Given the description of an element on the screen output the (x, y) to click on. 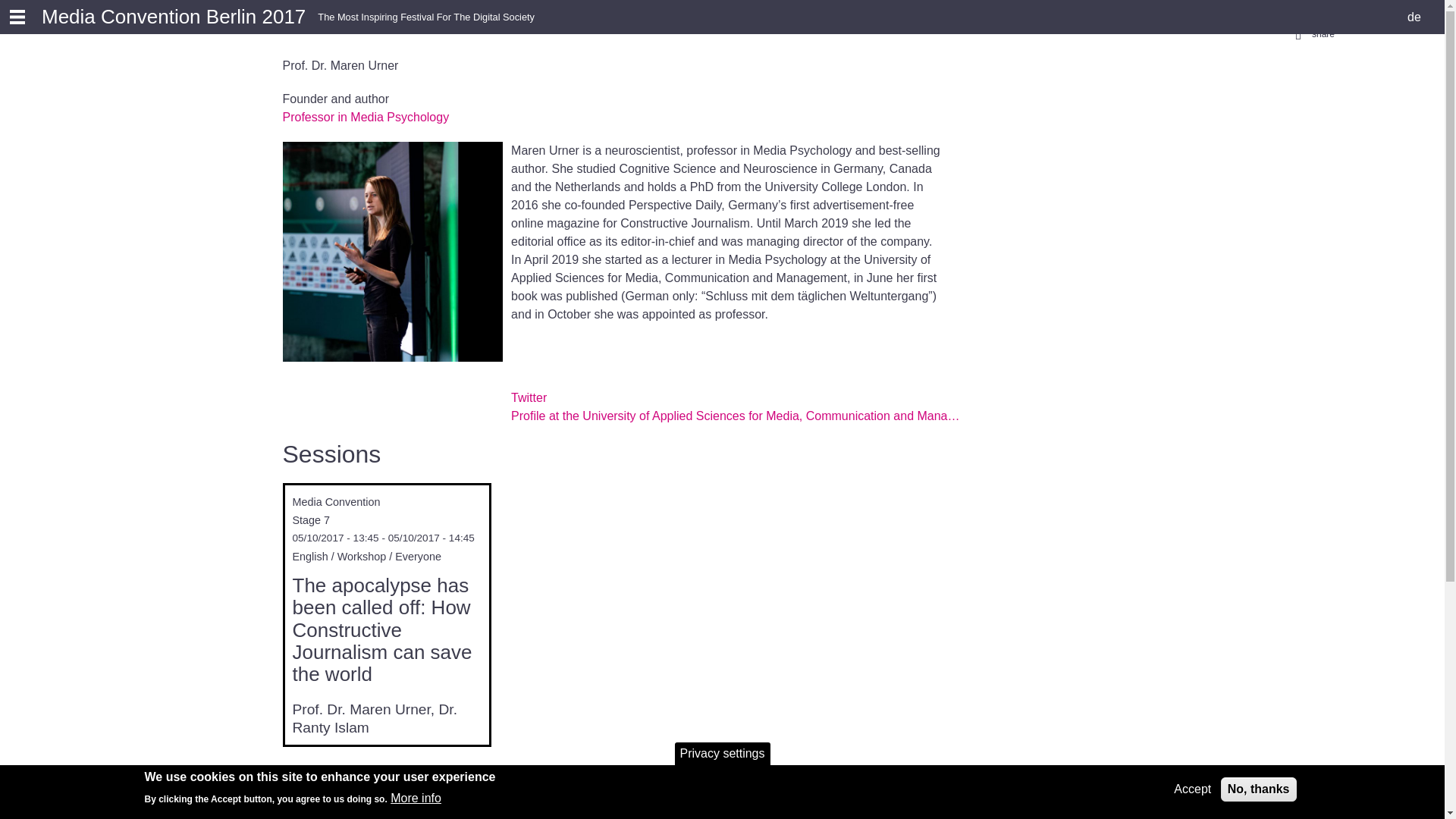
Privacy settings (721, 752)
Professor in Media Psychology (365, 116)
Home (173, 15)
Dr. Ranty Islam (375, 718)
share (1251, 11)
tweet (1176, 11)
No, thanks (1259, 789)
More info (415, 798)
share (1403, 11)
Stage 7 (311, 519)
